Given the description of an element on the screen output the (x, y) to click on. 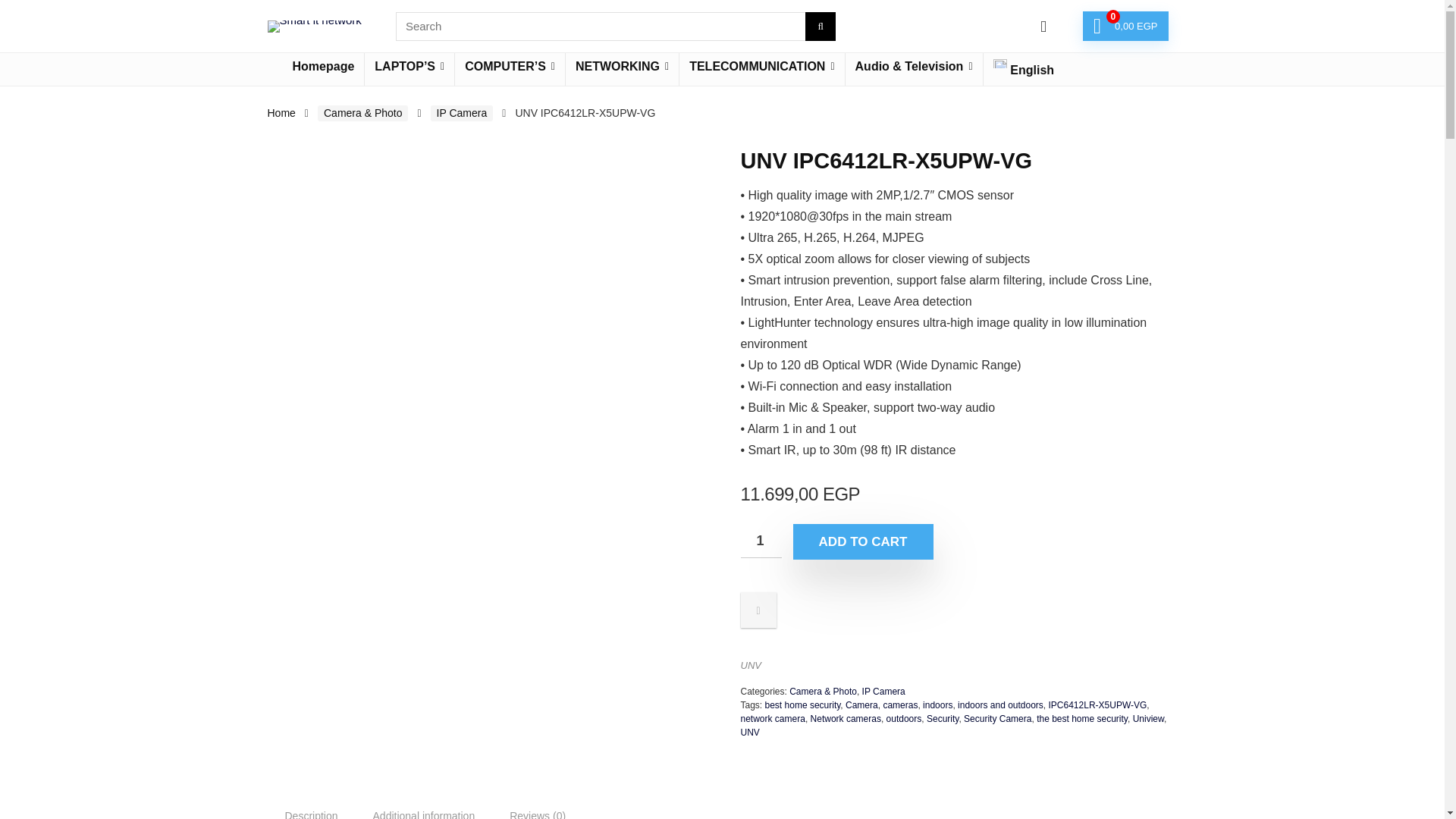
English (1023, 69)
NETWORKING (622, 67)
1 (759, 540)
Homepage (323, 67)
